Given the description of an element on the screen output the (x, y) to click on. 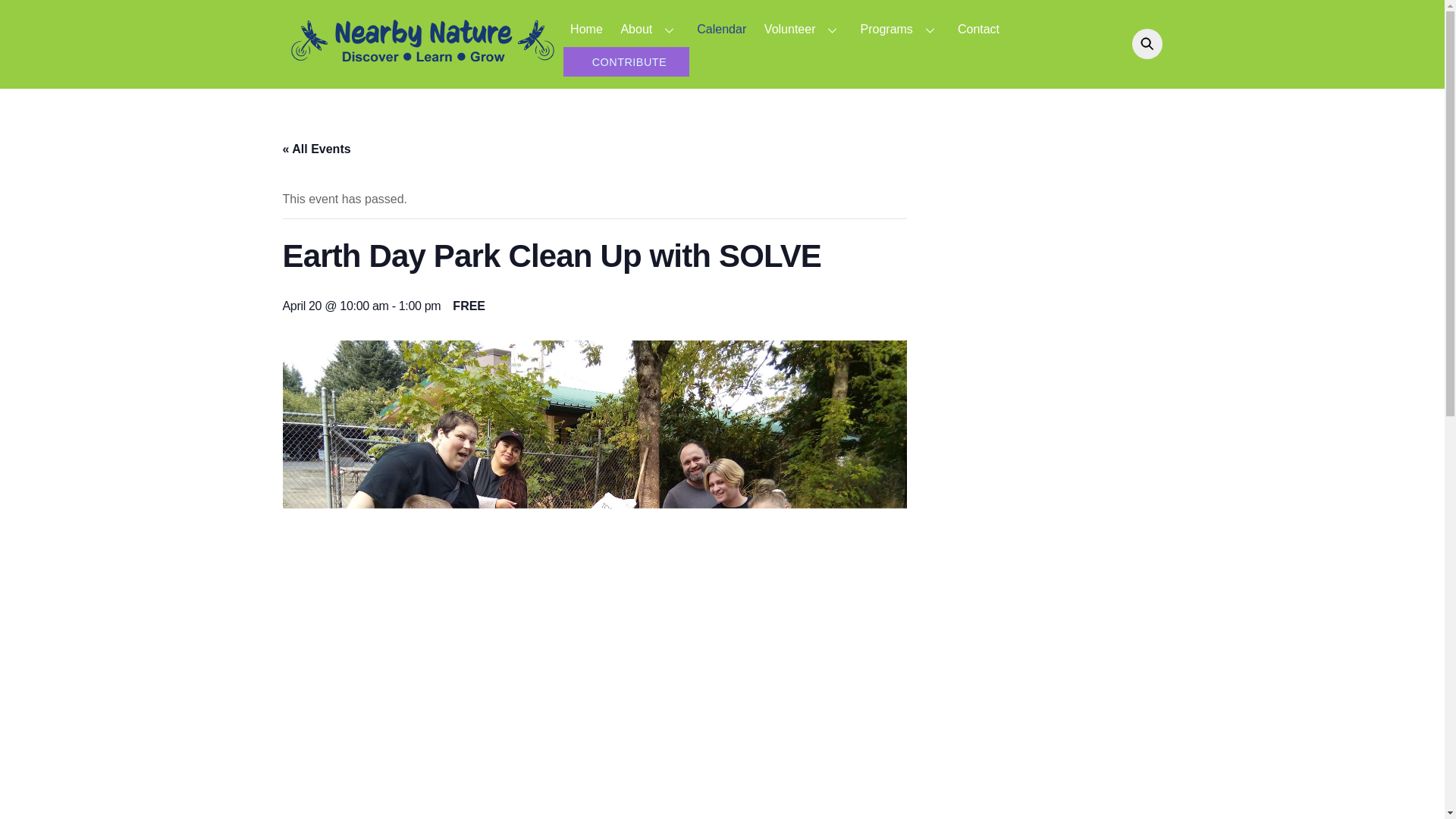
Programs (900, 29)
Search (1142, 43)
Home (586, 29)
Calendar (722, 29)
Nearby Nature (422, 63)
About (648, 29)
Volunteer (802, 29)
